Given the description of an element on the screen output the (x, y) to click on. 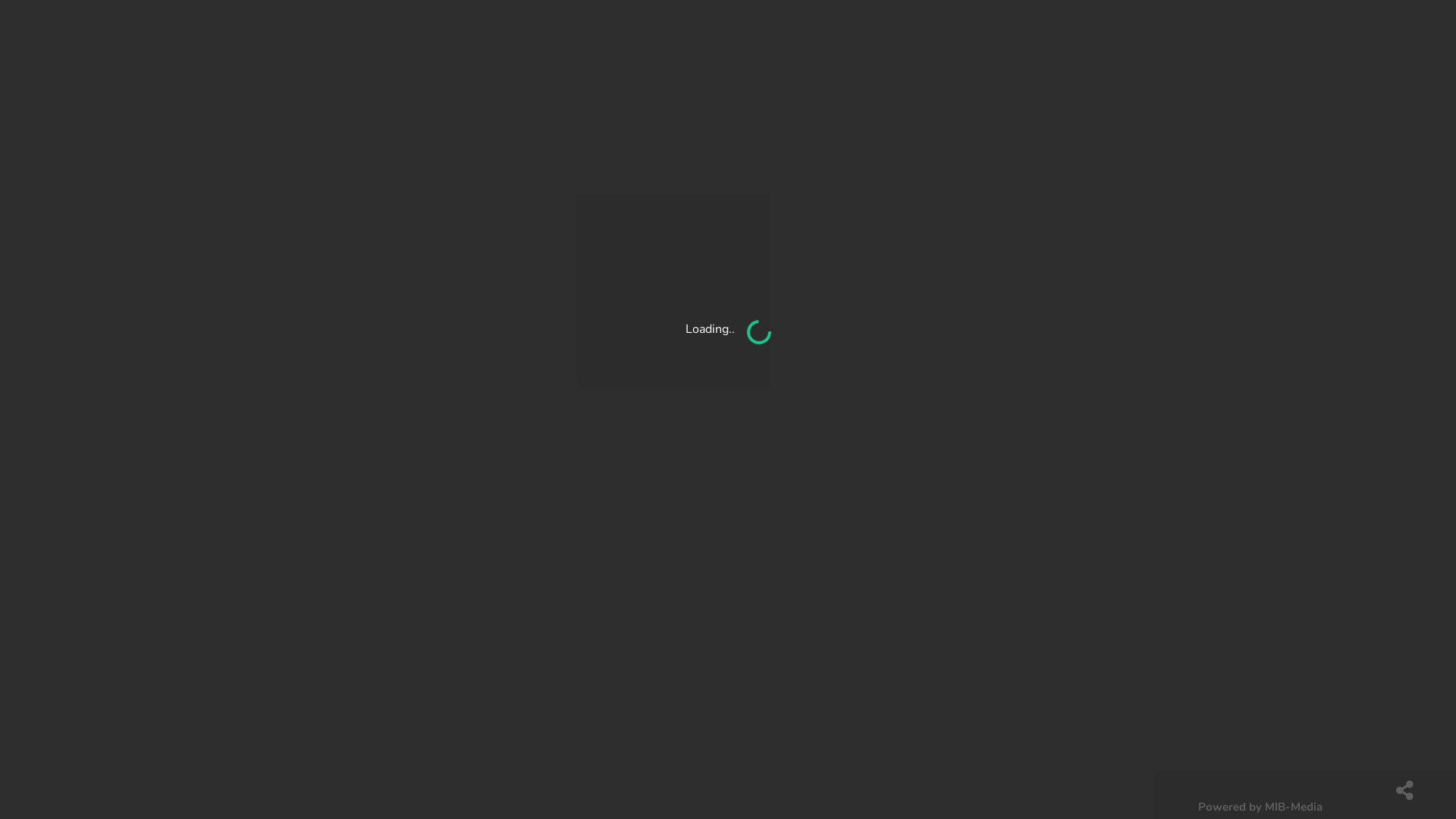
Powered by MIB-Media Element type: text (1260, 806)
